Given the description of an element on the screen output the (x, y) to click on. 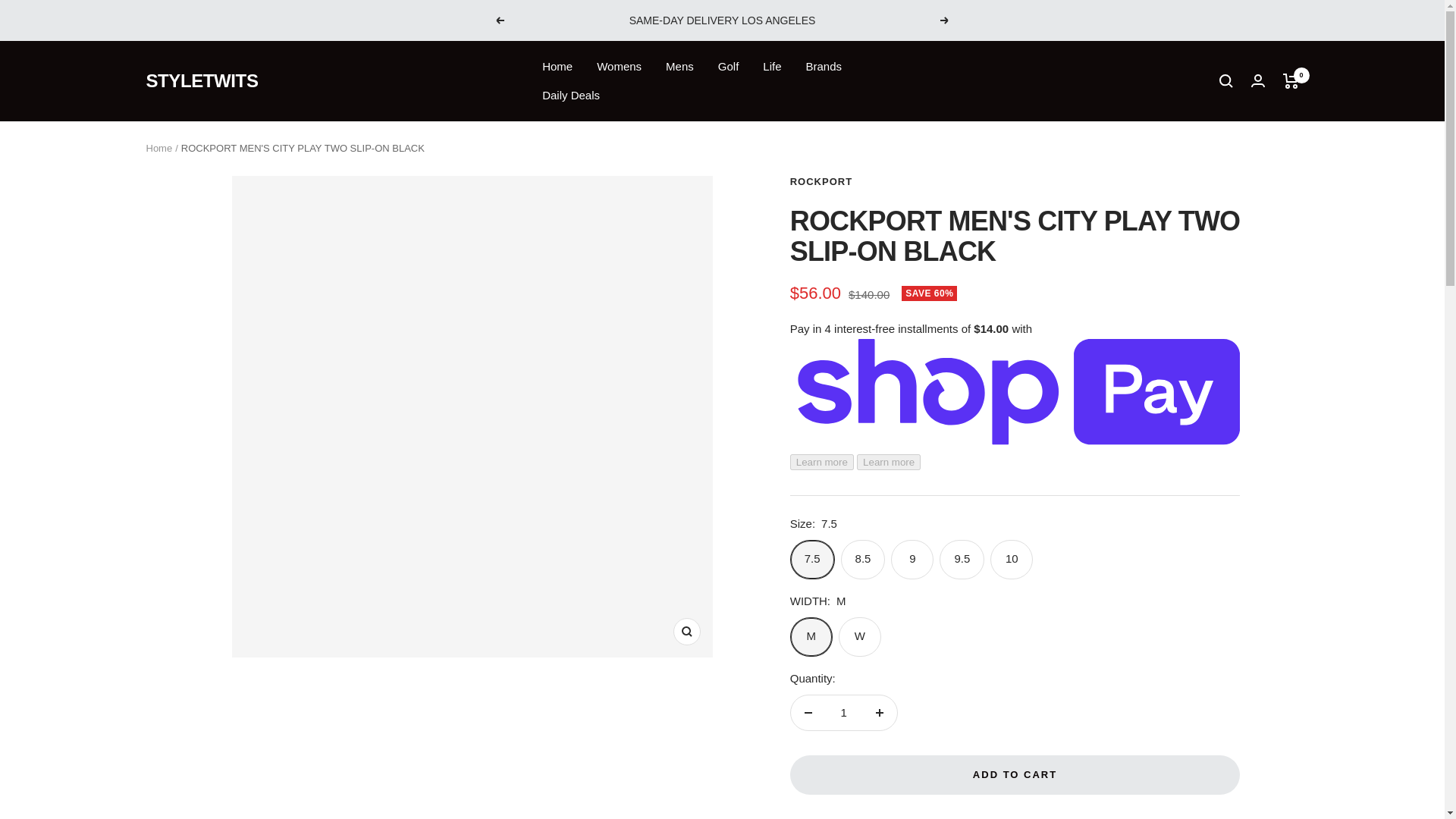
STYLETWITS (201, 80)
Mens (679, 66)
Golf (728, 66)
Brands (823, 66)
0 (1290, 80)
1 (843, 712)
Previous (499, 20)
Life (771, 66)
Womens (619, 66)
